Given the description of an element on the screen output the (x, y) to click on. 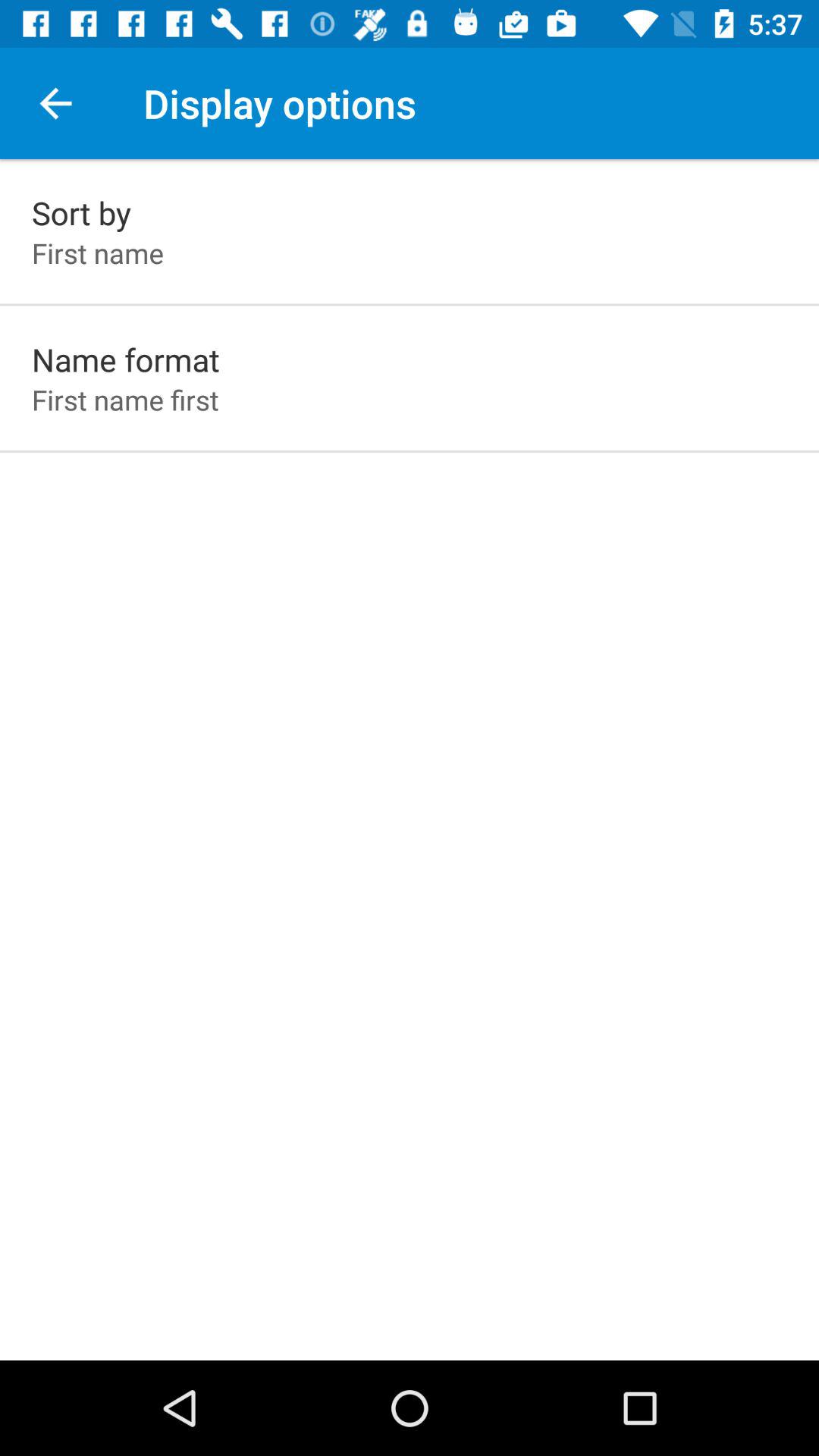
turn off app above the sort by icon (55, 103)
